Given the description of an element on the screen output the (x, y) to click on. 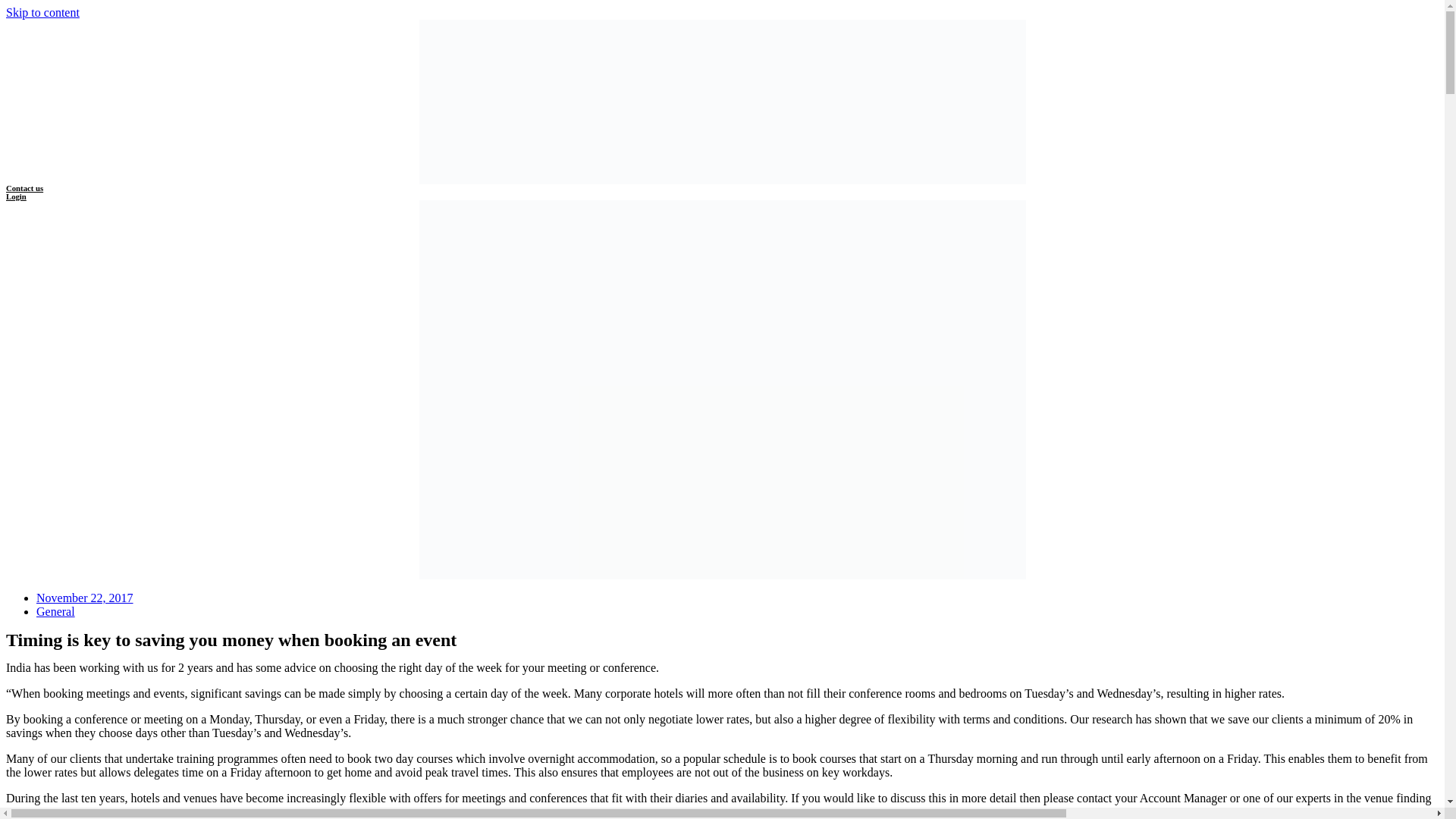
November 22, 2017 (84, 597)
General (55, 611)
Skip to content (42, 11)
Login (15, 195)
Contact us (24, 187)
